Given the description of an element on the screen output the (x, y) to click on. 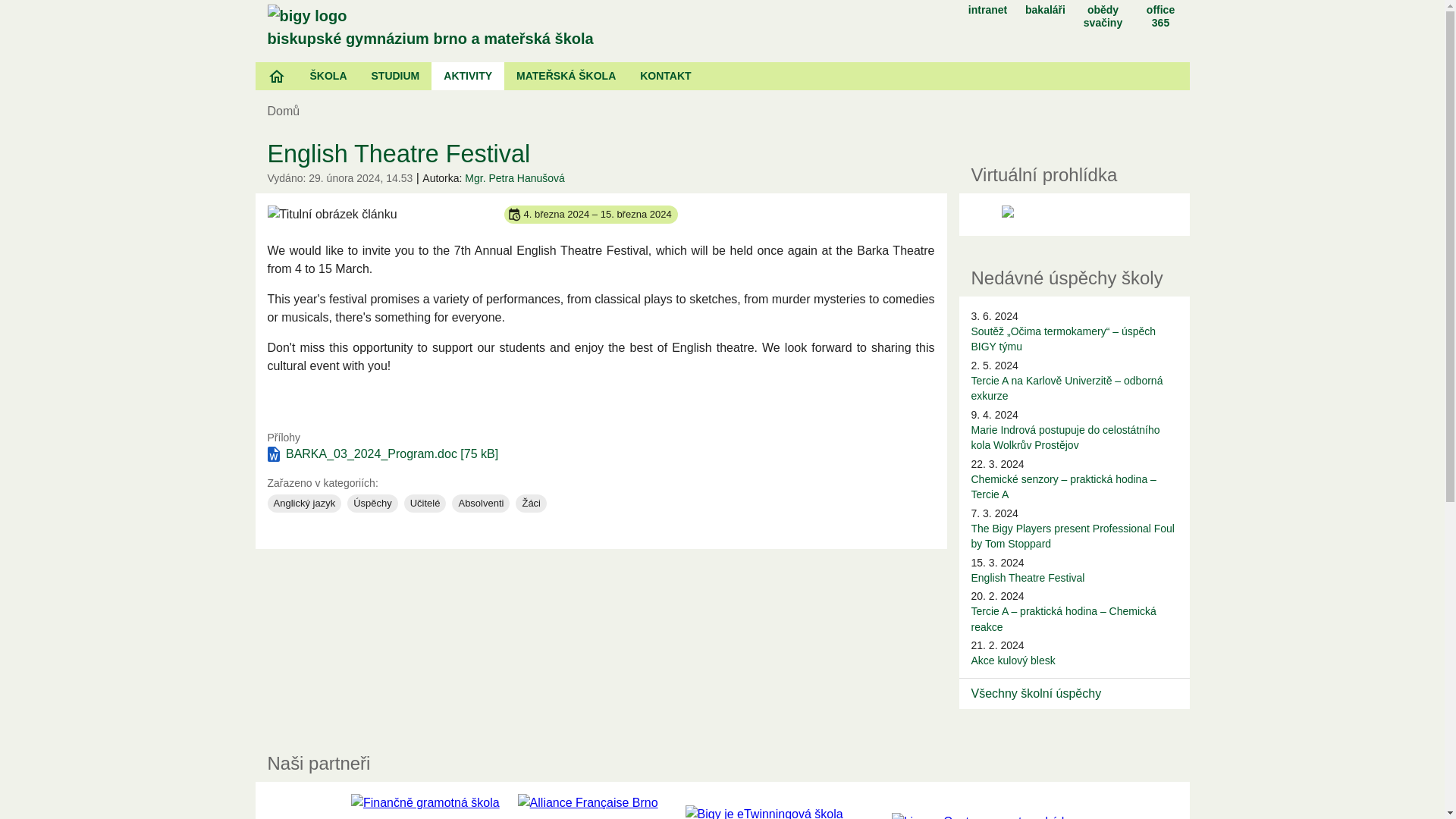
office 365 (1160, 14)
English Theatre Festival (1027, 577)
AKTIVITY (466, 76)
STUDIUM (395, 76)
The Bigy Players present Professional Foul by Tom Stoppard (1072, 535)
KONTAKT (665, 76)
intranet (987, 8)
